Given the description of an element on the screen output the (x, y) to click on. 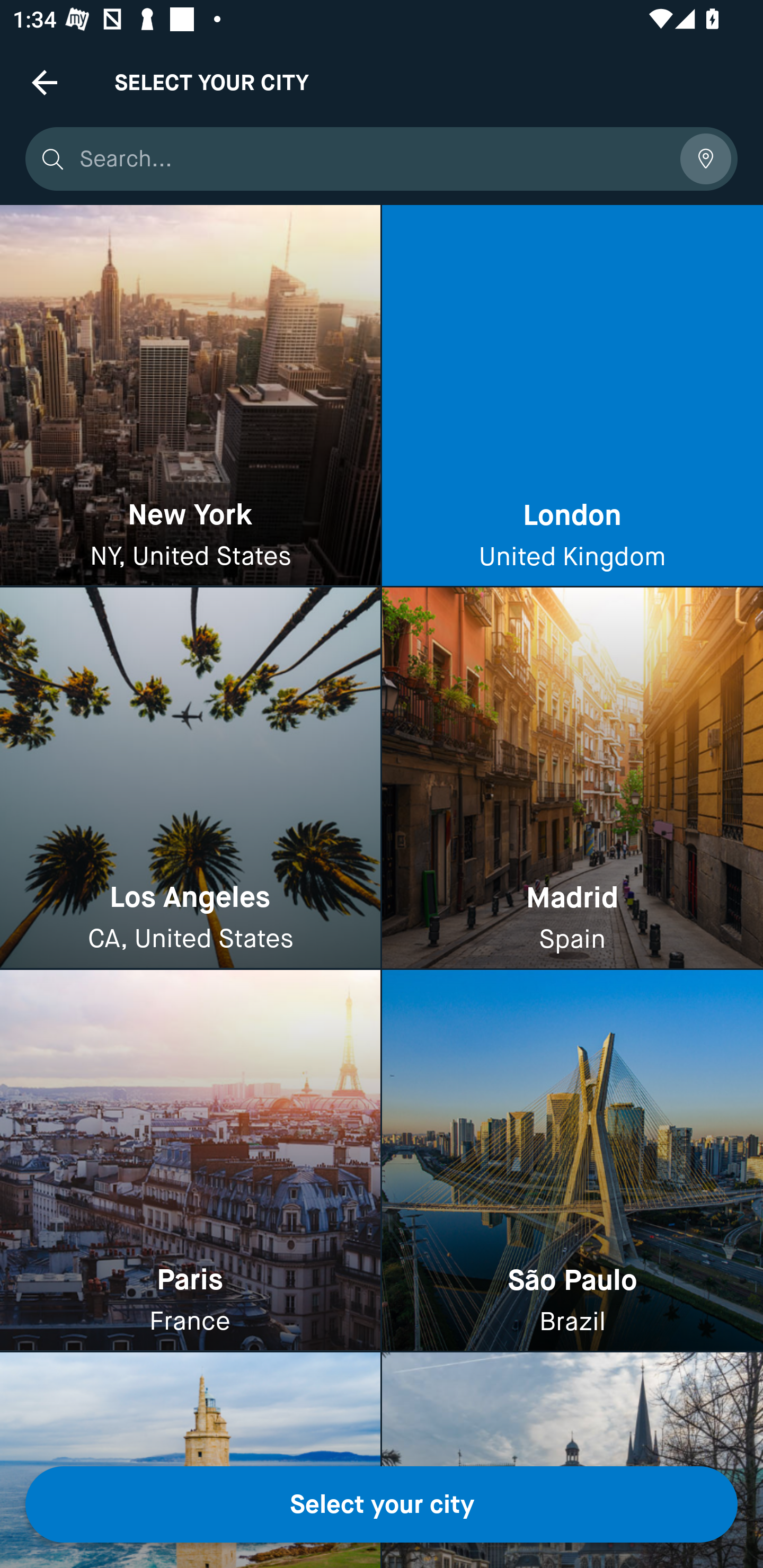
Navigate up (44, 82)
Search... (373, 159)
New York NY, United States (190, 395)
London United Kingdom (572, 395)
Los Angeles CA, United States (190, 778)
Madrid Spain (572, 778)
Paris France (190, 1160)
São Paulo Brazil (572, 1160)
Select your city (381, 1504)
